Given the description of an element on the screen output the (x, y) to click on. 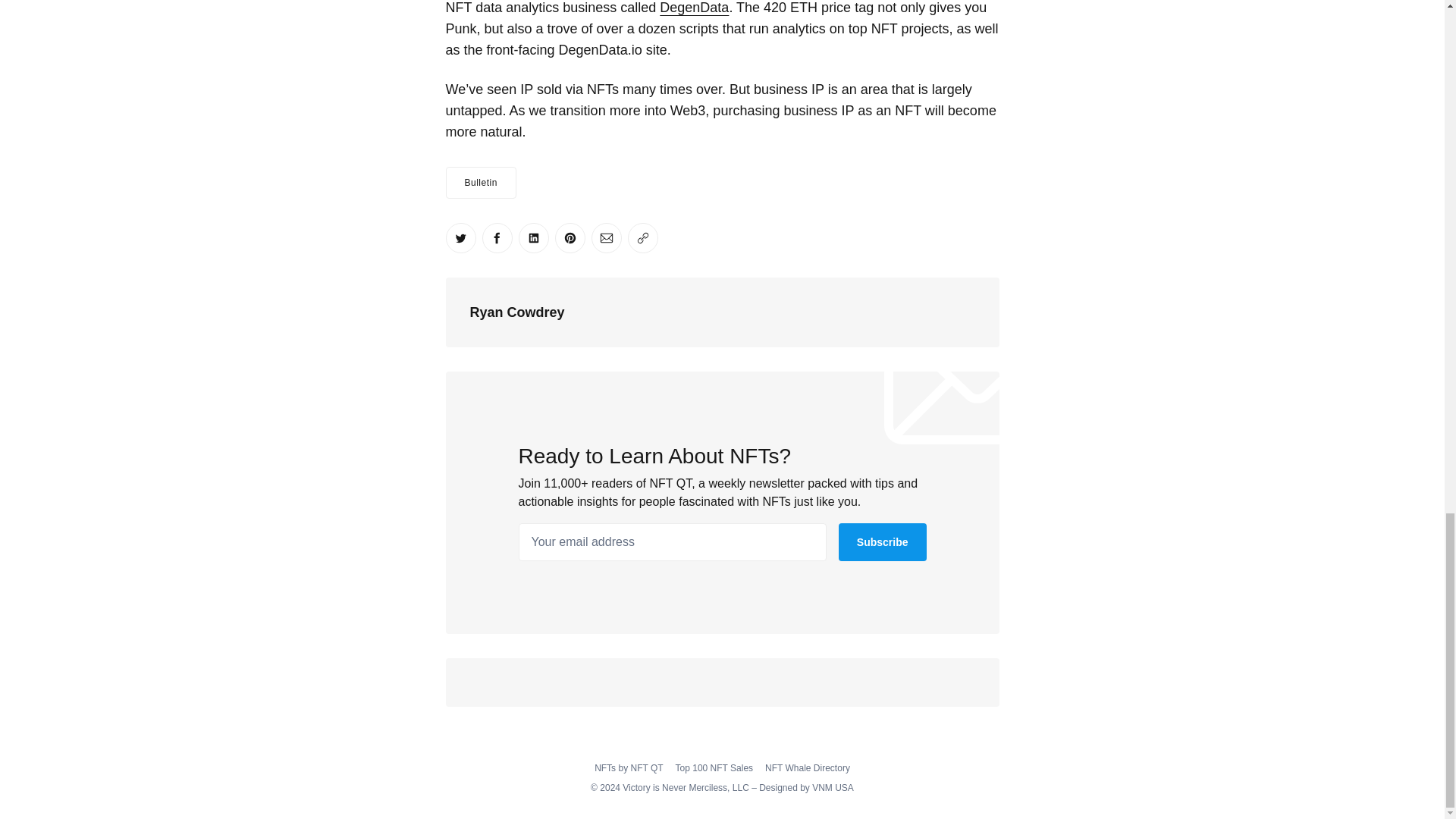
Subscribe (882, 542)
Share on Facebook (496, 237)
Bulletin (480, 183)
Share on Pinterest (569, 237)
DegenData (694, 7)
VNM USA (832, 787)
NFT Whale Directory (807, 767)
NFTs by NFT QT (628, 767)
Share on Twitter (460, 237)
Top 100 NFT Sales (714, 767)
Share via Email (606, 237)
Copy link (642, 237)
Share on LinkedIn (533, 237)
Ryan Cowdrey (517, 312)
